Given the description of an element on the screen output the (x, y) to click on. 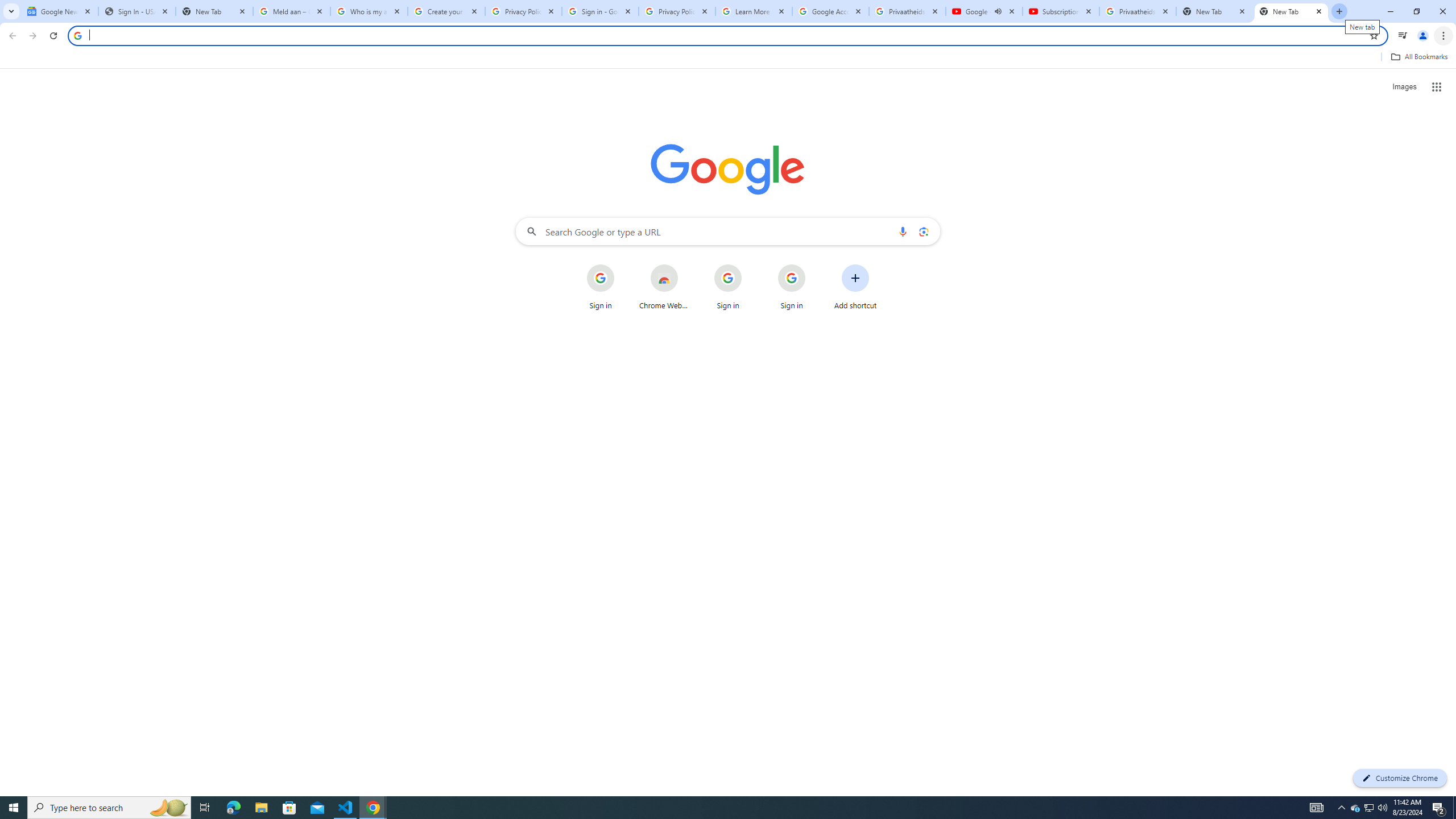
New Tab (213, 11)
New Tab (1291, 11)
Google - YouTube - Audio playing (983, 11)
Subscriptions - YouTube (1061, 11)
